Given the description of an element on the screen output the (x, y) to click on. 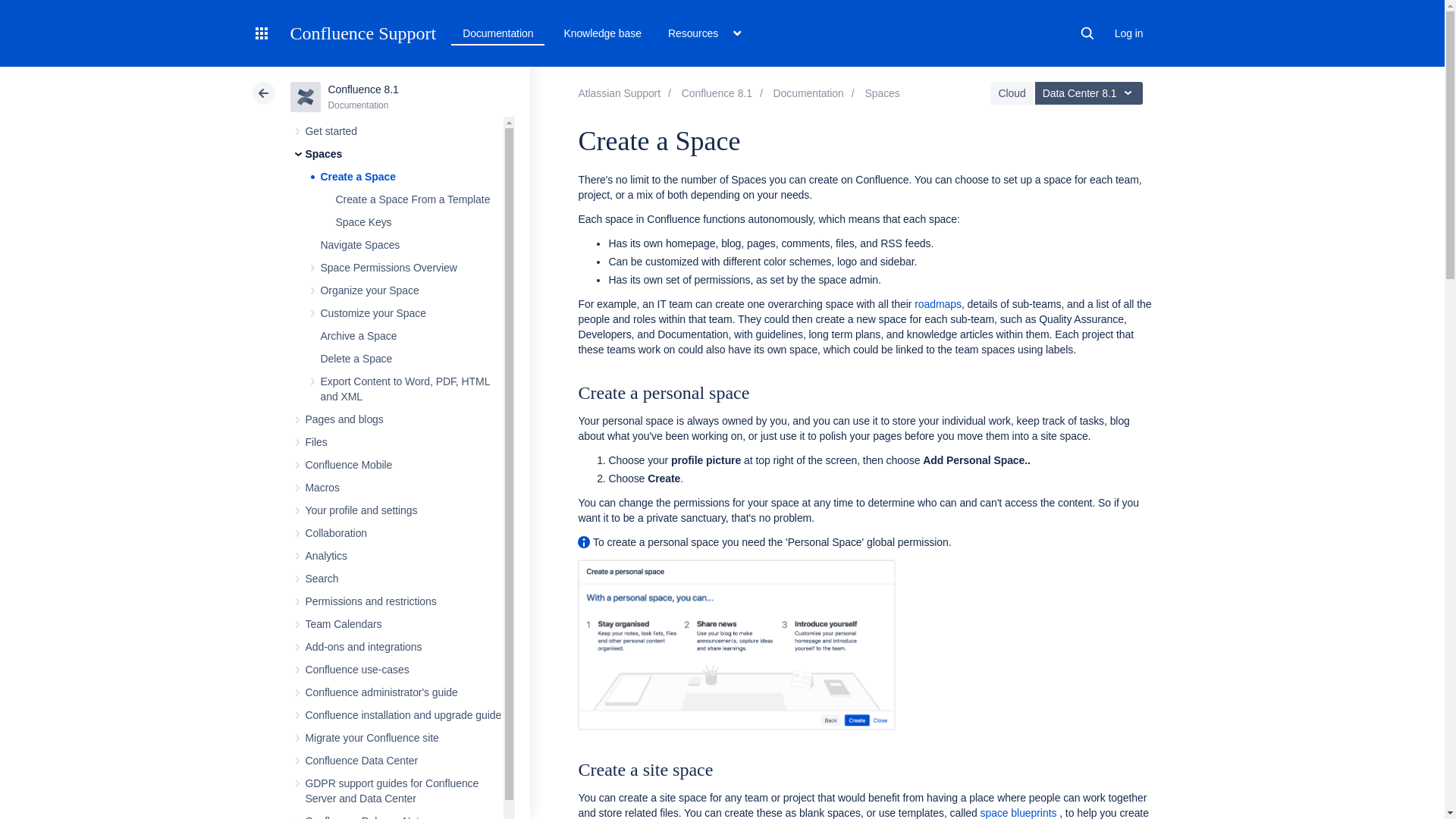
Spaces (881, 92)
Atlassian Support (619, 92)
Search (1087, 33)
Confluence (716, 92)
Log in (1128, 33)
Knowledge base (602, 33)
Documentation (497, 33)
Confluence 8.1 (808, 92)
Confluence Support (362, 33)
